Given the description of an element on the screen output the (x, y) to click on. 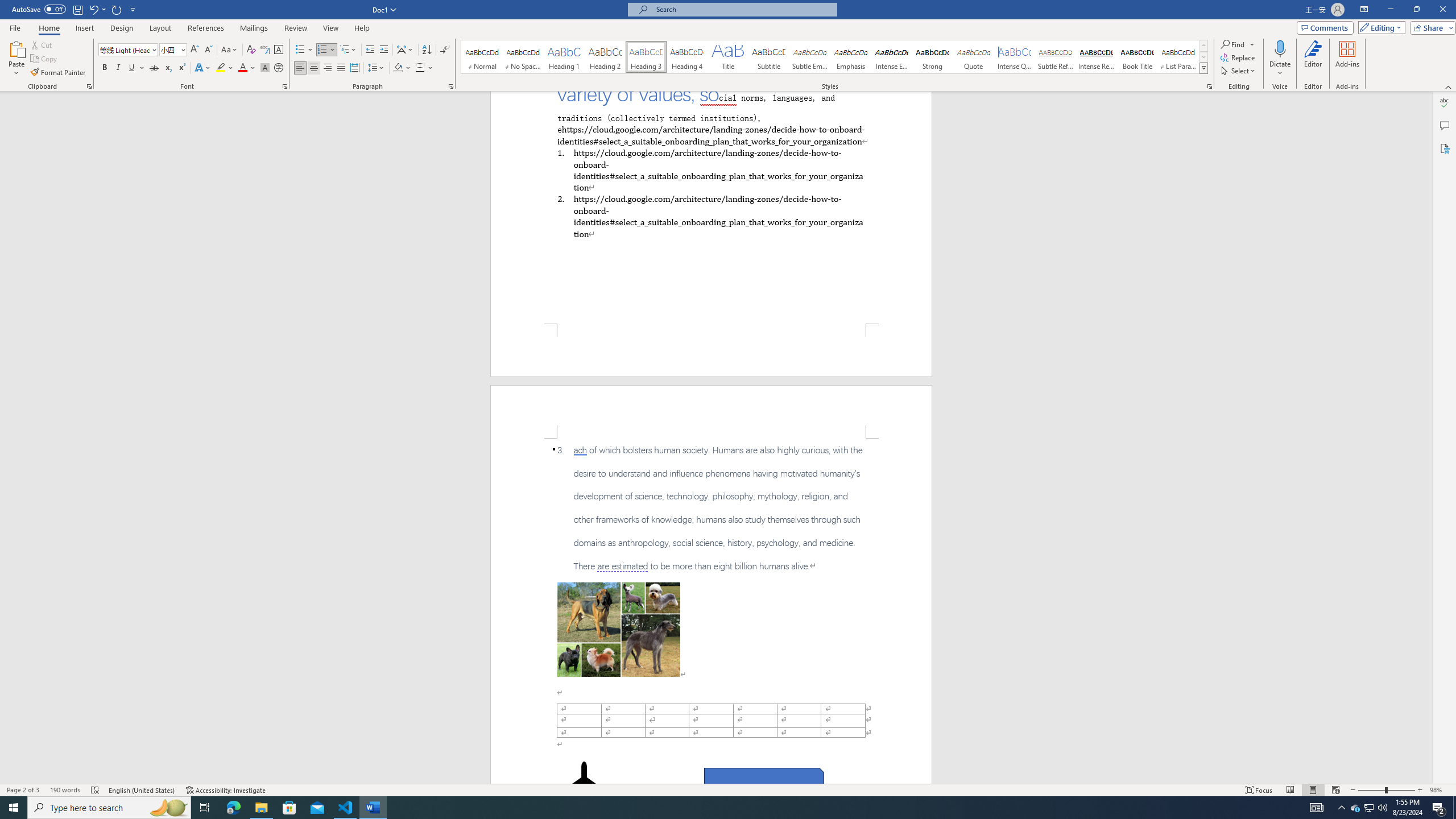
3. (710, 507)
Intense Quote (1014, 56)
2. (710, 216)
Heading 4 (686, 56)
Subtle Reference (1055, 56)
Intense Reference (1095, 56)
